Given the description of an element on the screen output the (x, y) to click on. 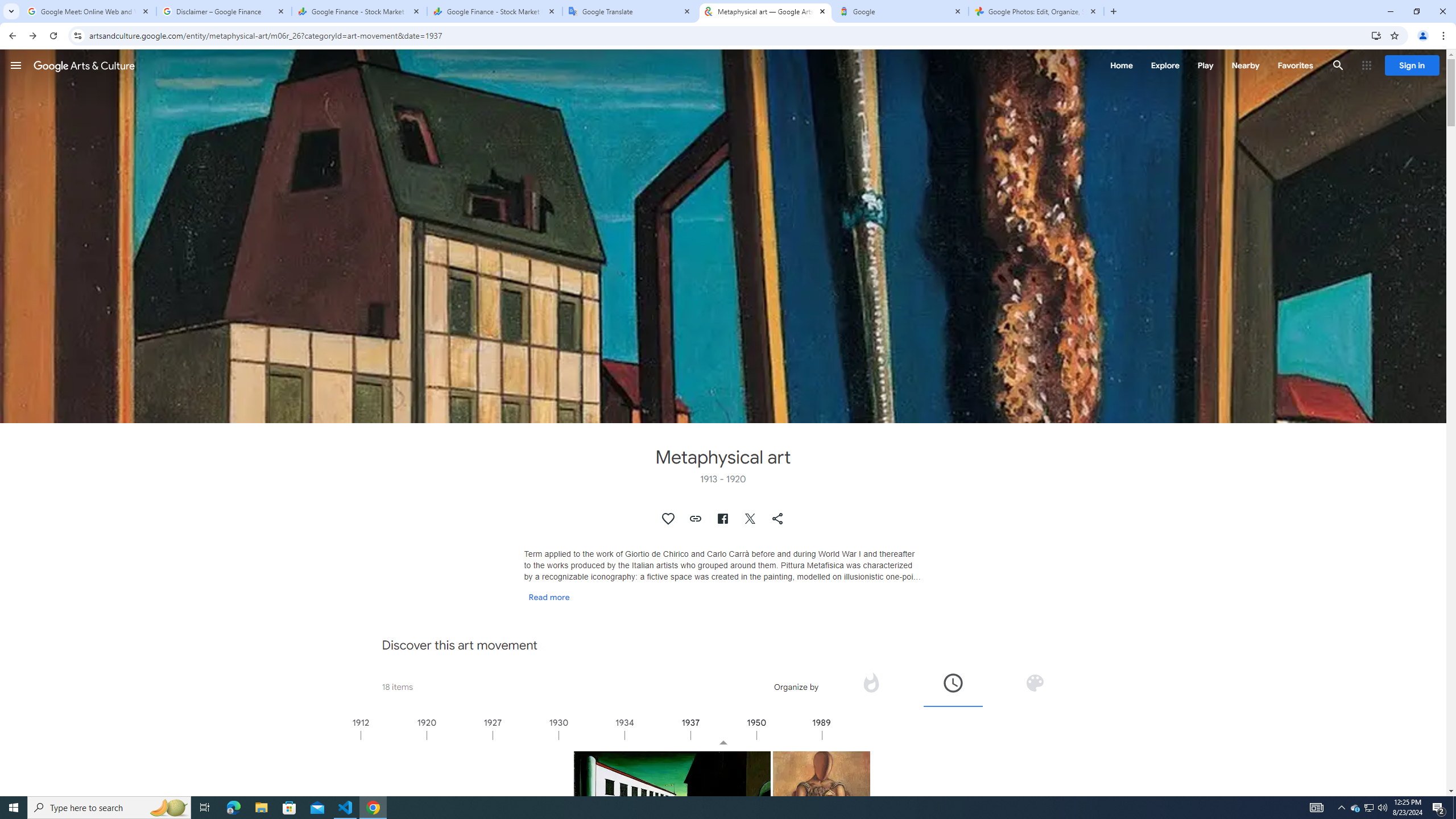
Share "Metaphysical art" (778, 518)
Google Translate (630, 11)
Organize by color (1034, 686)
Explore (1164, 65)
Menu (15, 65)
Install Google Arts & Culture (1376, 35)
Organize by popularity (871, 686)
Authenticate to favorite this asset. (668, 518)
Favorites (1295, 65)
